Given the description of an element on the screen output the (x, y) to click on. 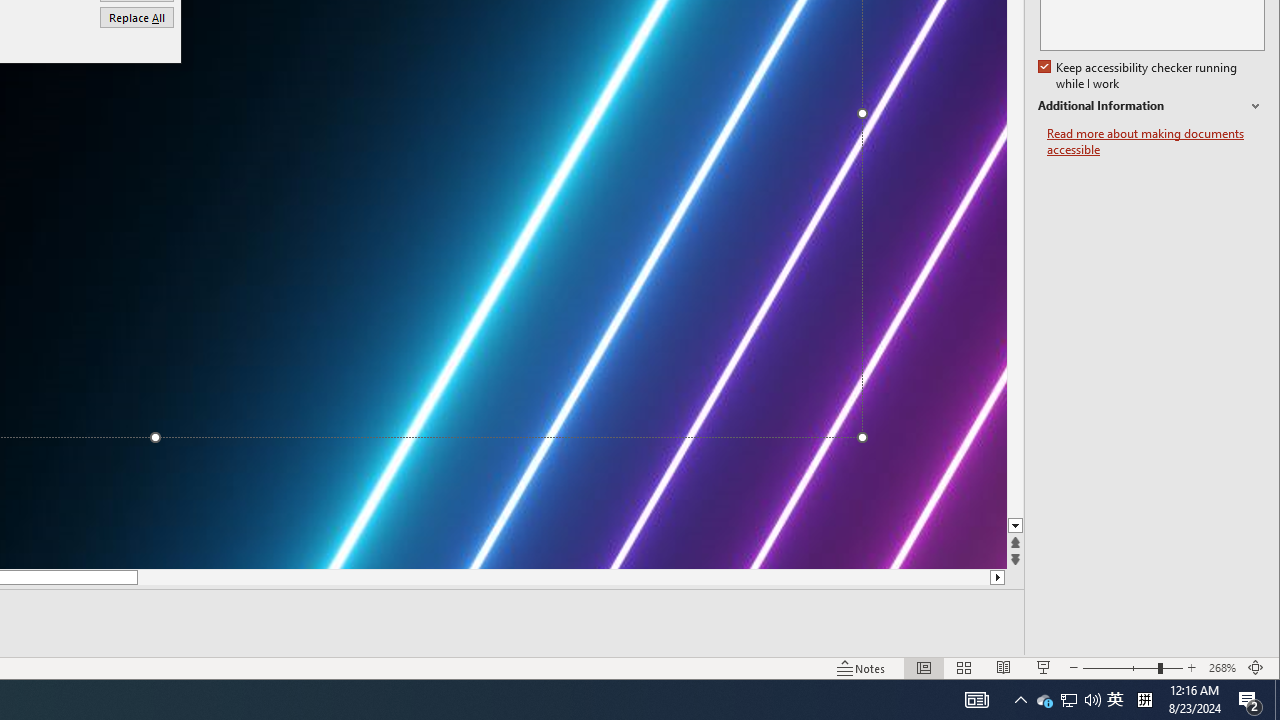
Replace All (136, 16)
